Given the description of an element on the screen output the (x, y) to click on. 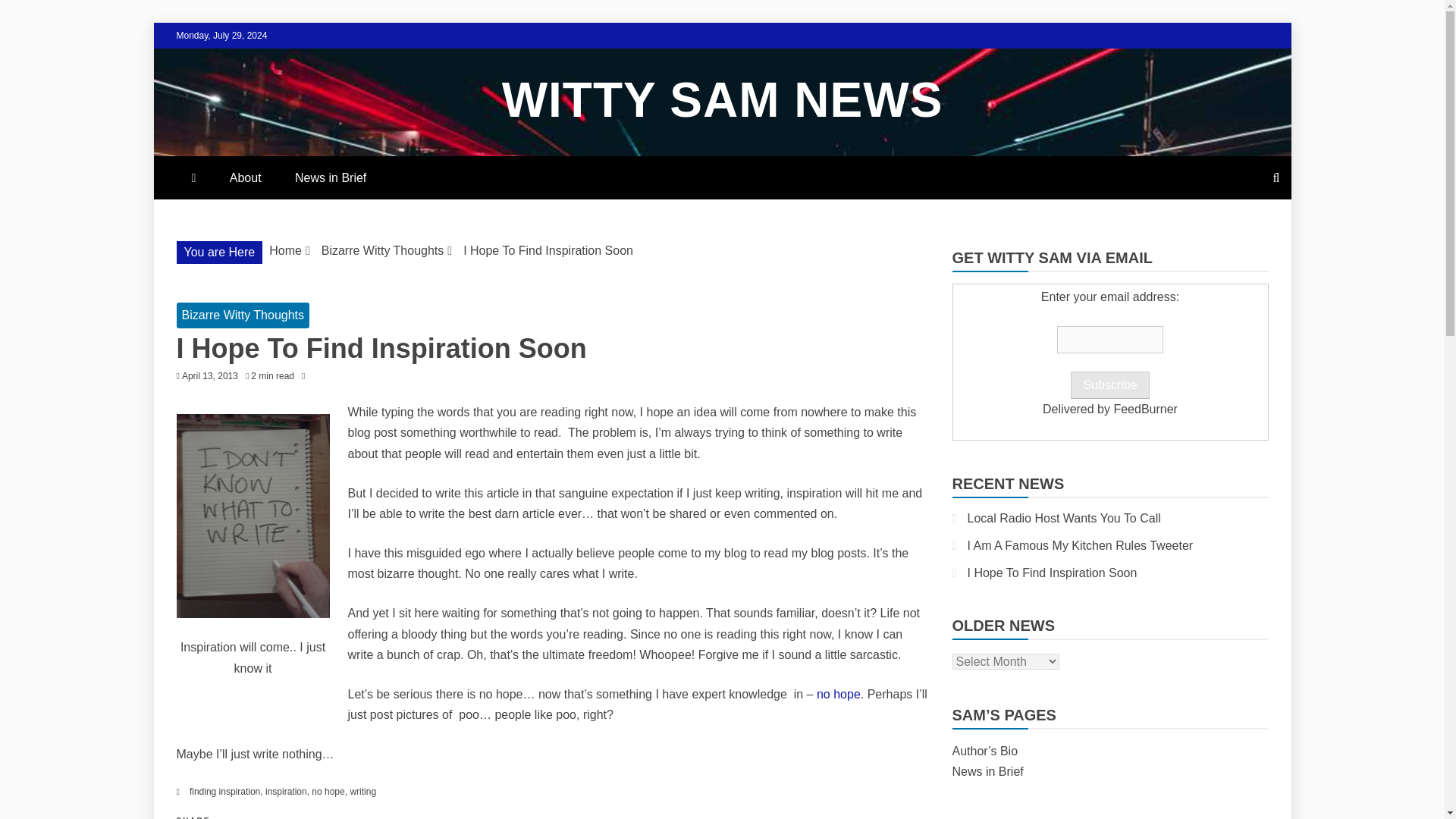
finding inspiration (224, 791)
WITTY SAM NEWS (722, 99)
Bizarre Witty Thoughts (382, 250)
FeedBurner (1145, 408)
April 13, 2013 (210, 376)
About (245, 177)
no hope (327, 791)
writing (362, 791)
Home (285, 250)
I Am A Famous My Kitchen Rules Tweeter (1080, 545)
inspiration (285, 791)
Bizarre Witty Thoughts (242, 314)
no hope (838, 694)
Subscribe (1109, 384)
